Given the description of an element on the screen output the (x, y) to click on. 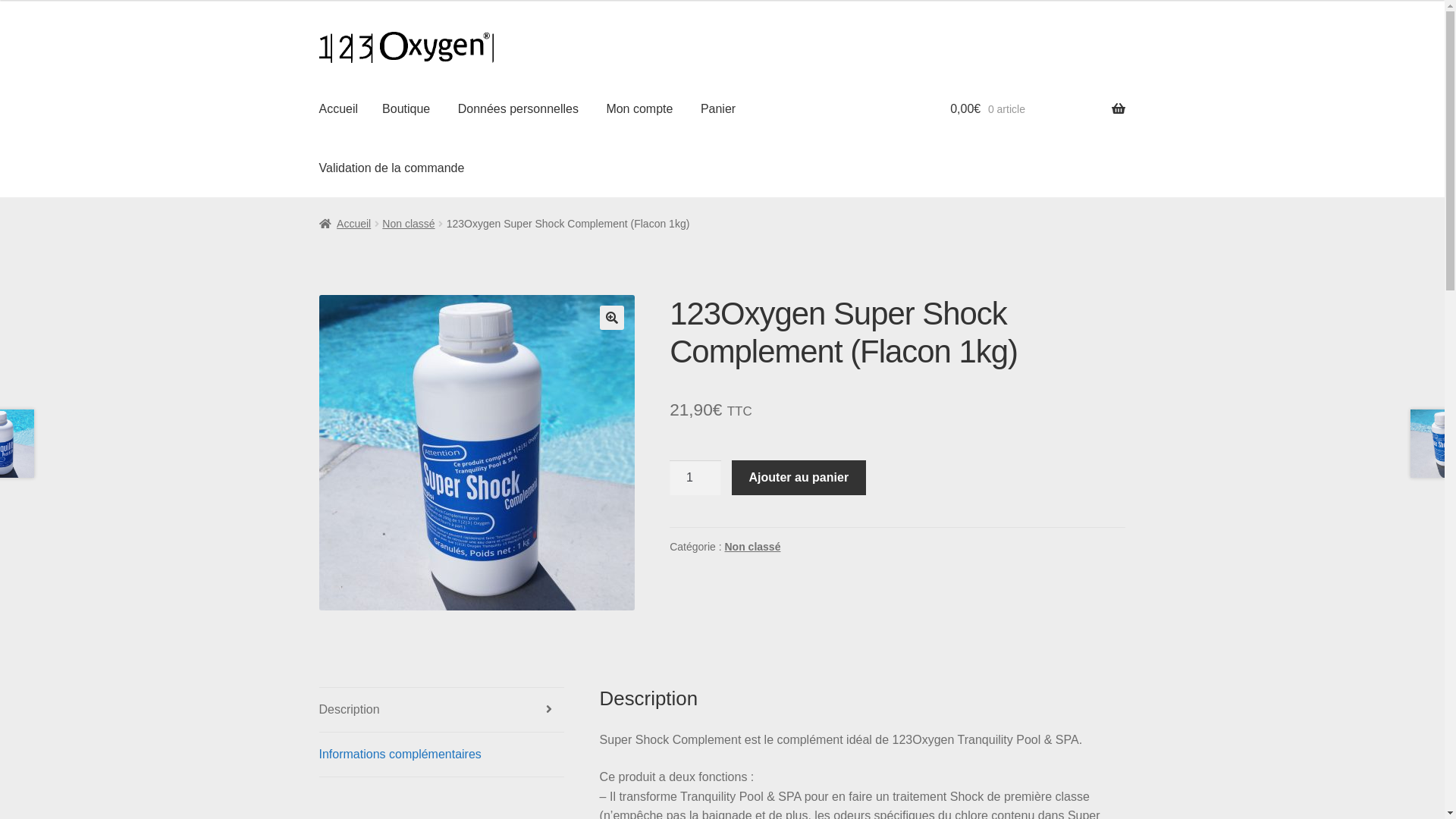
Boutique Element type: text (406, 108)
Description Element type: text (441, 709)
Ajouter au panier Element type: text (798, 477)
Mon compte Element type: text (638, 108)
Panier Element type: text (717, 108)
Accueil Element type: text (338, 108)
SSC 1000 px X 1000px 1kg Element type: hover (476, 452)
Validation de la commande Element type: text (391, 167)
Accueil Element type: text (345, 223)
